Given the description of an element on the screen output the (x, y) to click on. 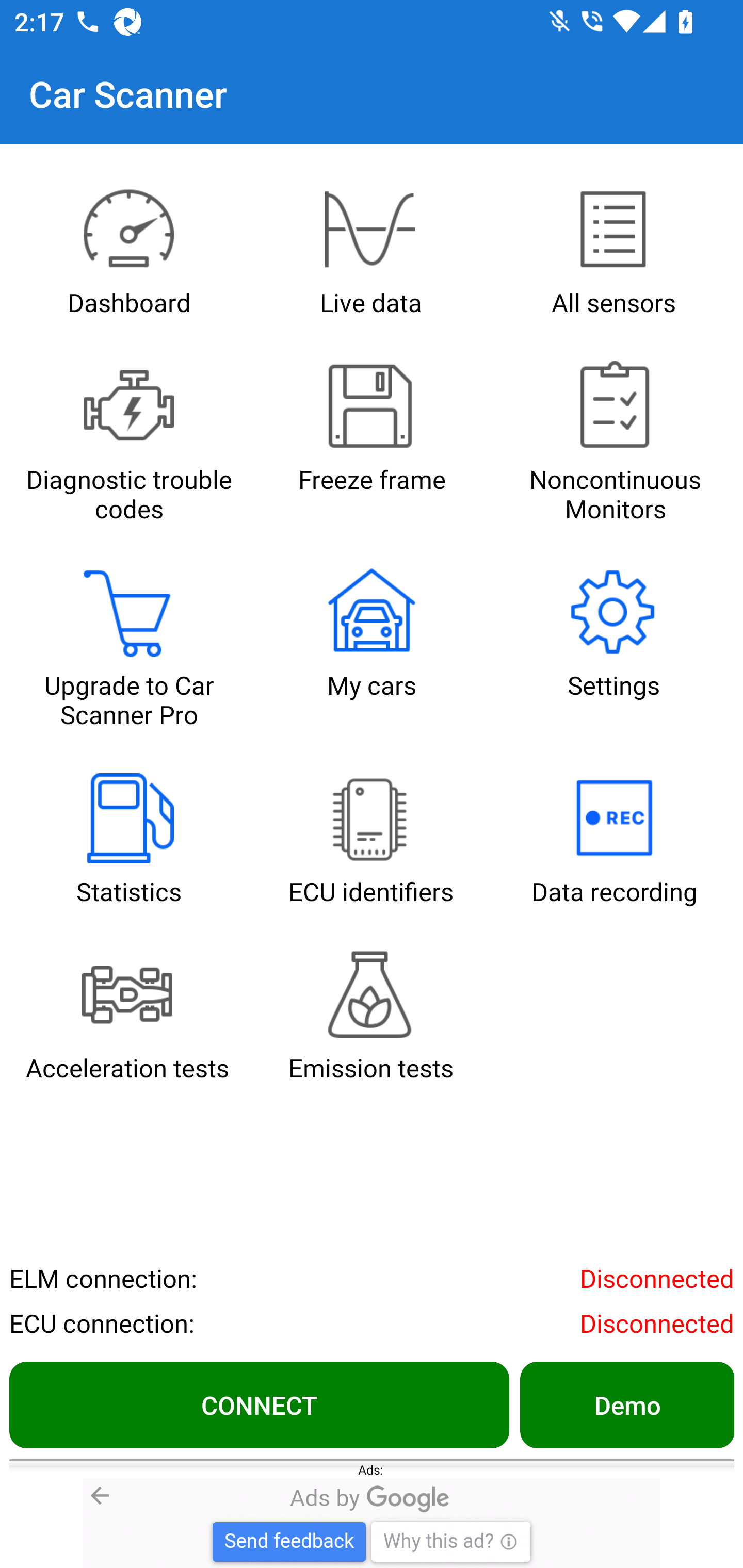
CONNECT (258, 1404)
Demo (627, 1404)
